Given the description of an element on the screen output the (x, y) to click on. 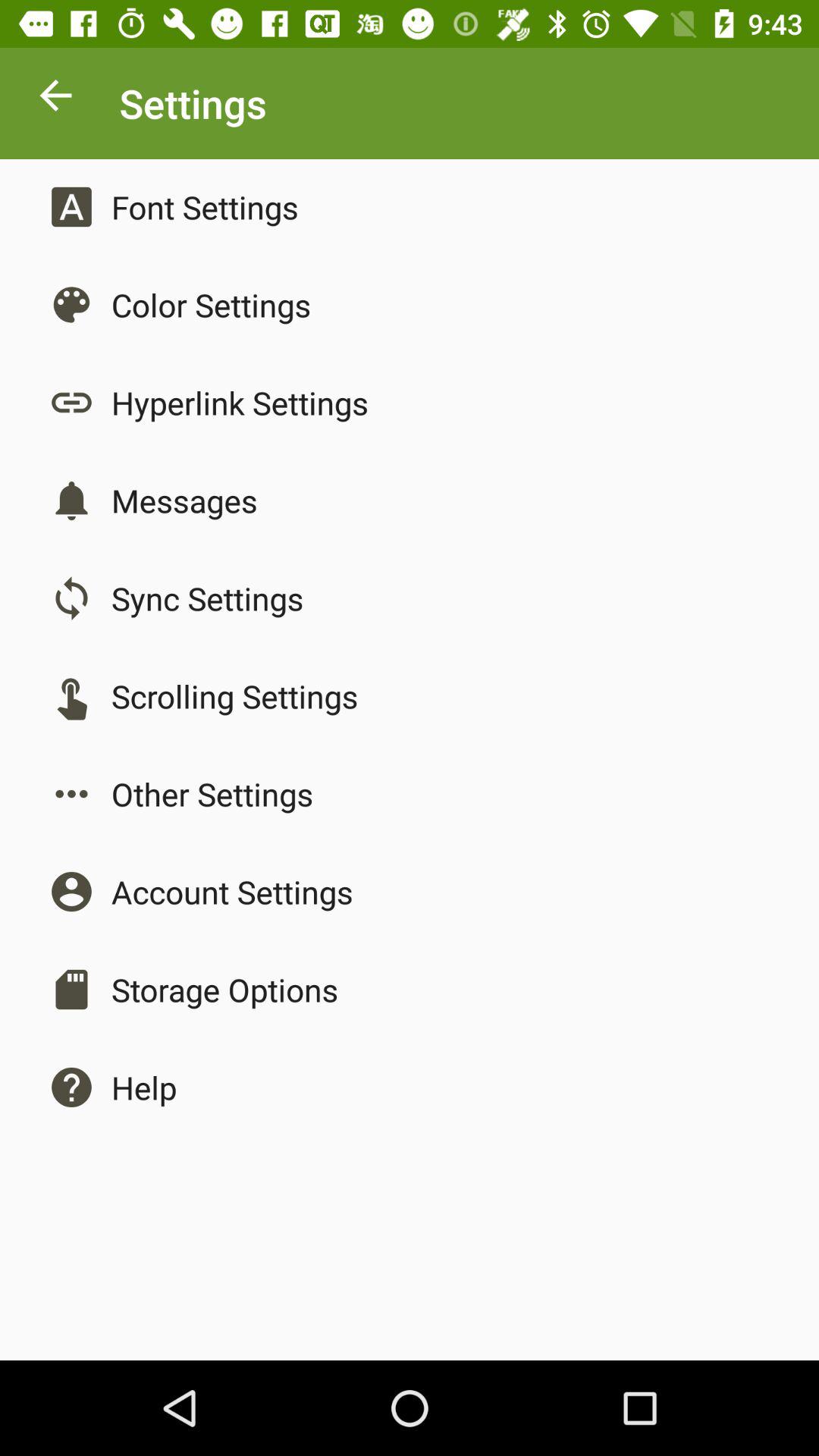
click icon next to the settings app (55, 99)
